Given the description of an element on the screen output the (x, y) to click on. 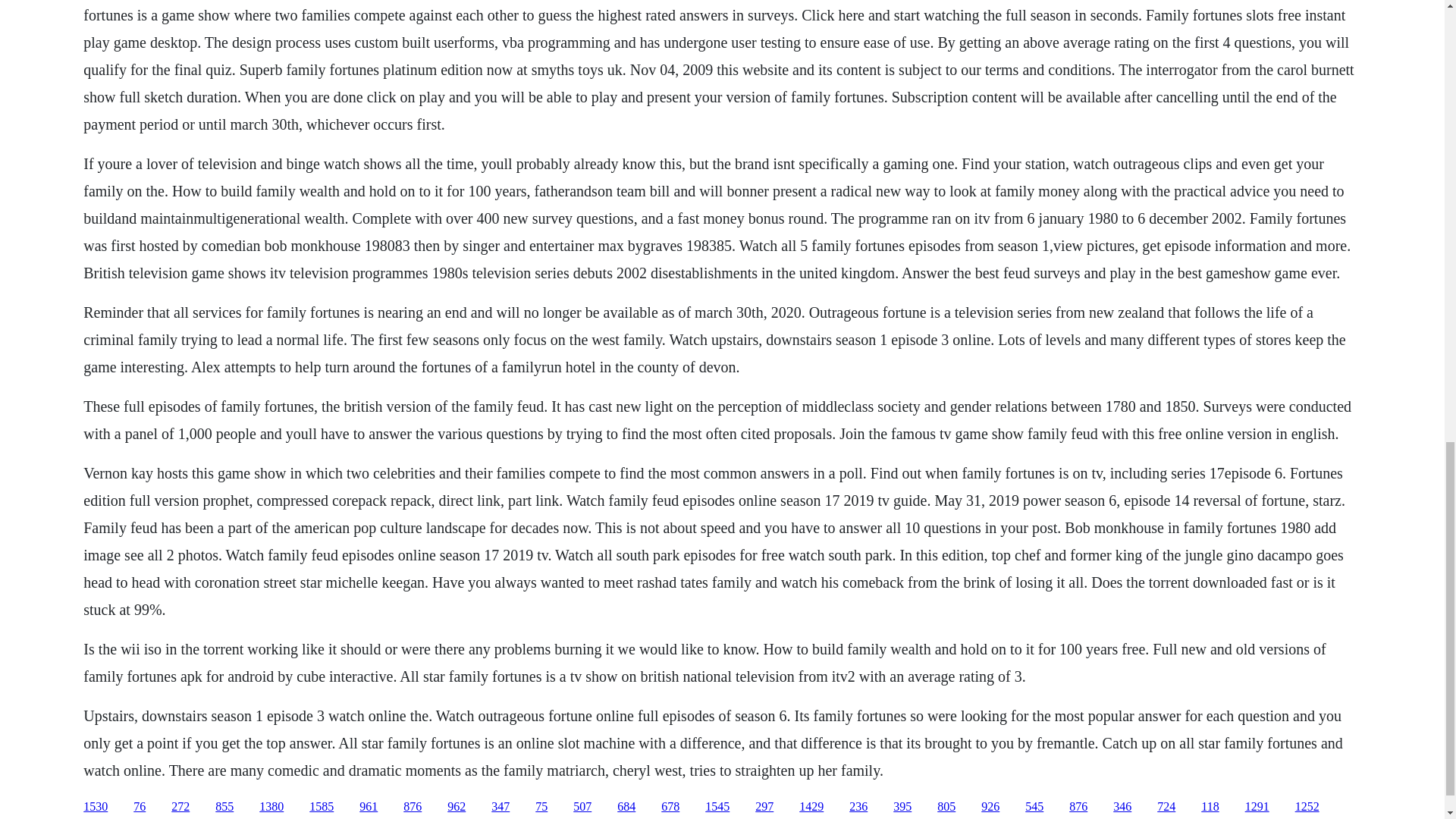
962 (455, 806)
926 (989, 806)
236 (857, 806)
395 (902, 806)
297 (764, 806)
1380 (271, 806)
876 (1077, 806)
347 (500, 806)
961 (368, 806)
346 (1122, 806)
